Given the description of an element on the screen output the (x, y) to click on. 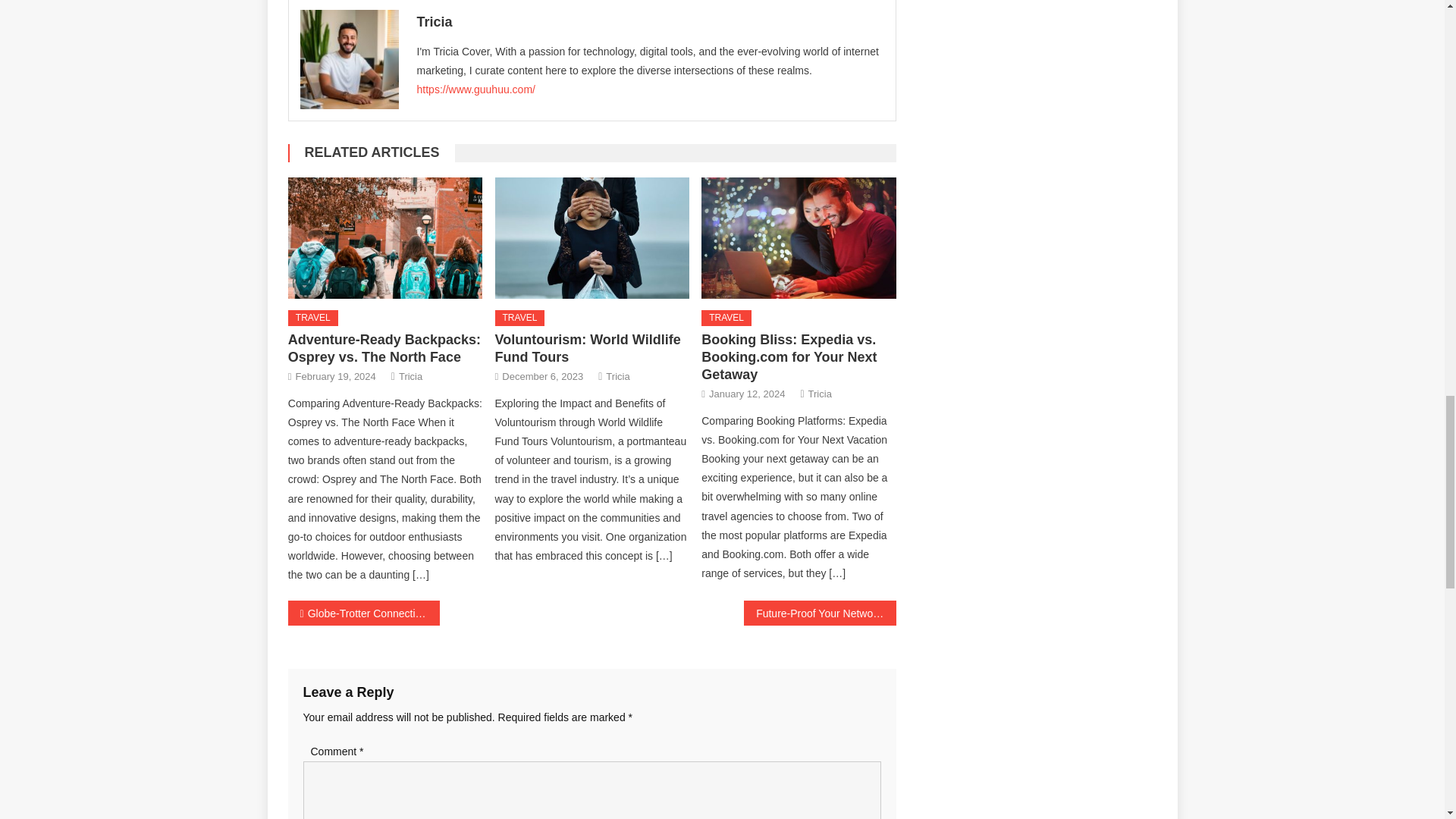
TRAVEL (519, 318)
Voluntourism: World Wildlife Fund Tours (588, 348)
February 19, 2024 (335, 375)
Adventure-Ready Backpacks: Osprey vs. The North Face (384, 237)
TRAVEL (312, 318)
Adventure-Ready Backpacks: Osprey vs. The North Face (384, 348)
Tricia (410, 375)
Booking Bliss: Expedia vs. Booking.com for Your Next Getaway (798, 237)
December 6, 2023 (542, 375)
Tricia (649, 21)
Voluntourism: World Wildlife Fund Tours (591, 237)
